Given the description of an element on the screen output the (x, y) to click on. 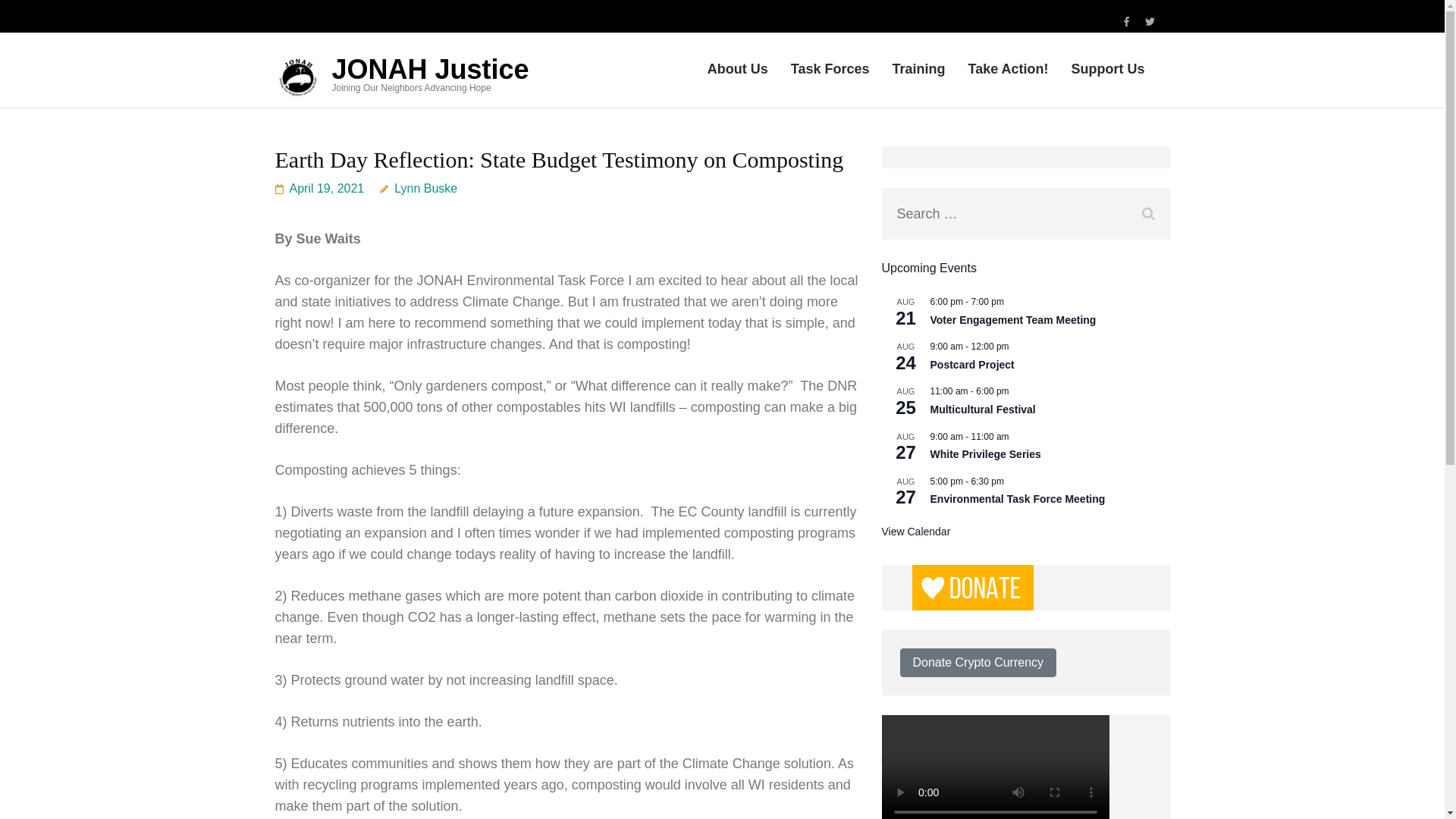
Search (1147, 213)
Multicultural Festival (982, 409)
Voter Engagement Team Meeting (1013, 319)
Task Forces (829, 75)
Postcard Project (972, 364)
View more events. (916, 531)
White Privilege Series (985, 454)
JONAH Justice (430, 69)
About Us (737, 75)
Search (1147, 213)
